Given the description of an element on the screen output the (x, y) to click on. 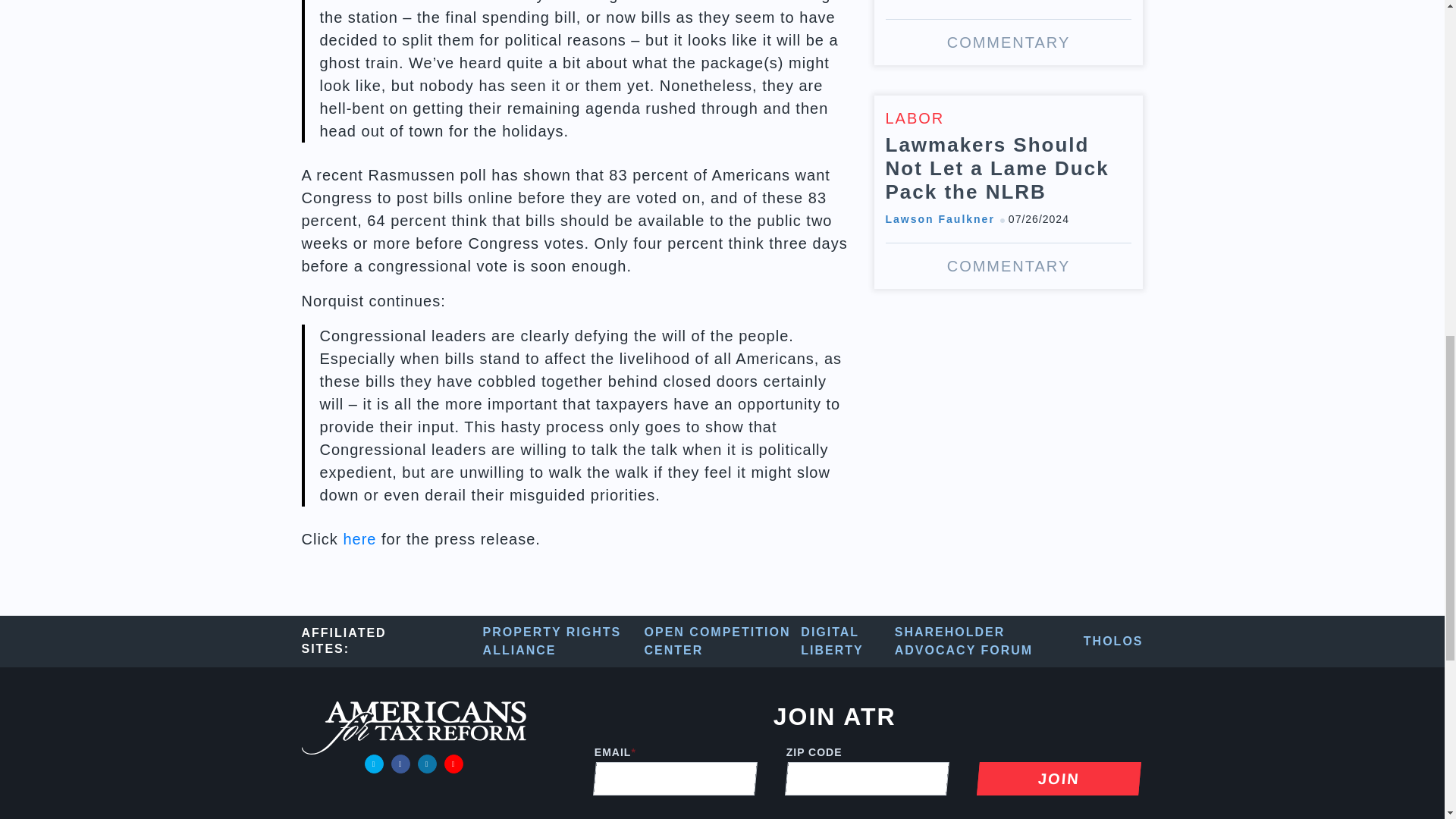
Join (1057, 778)
OPEN COMPETITION CENTER (723, 641)
here (358, 538)
Lawmakers Should Not Let a Lame Duck Pack the NLRB (1007, 192)
PROPERTY RIGHTS ALLIANCE (564, 641)
